Given the description of an element on the screen output the (x, y) to click on. 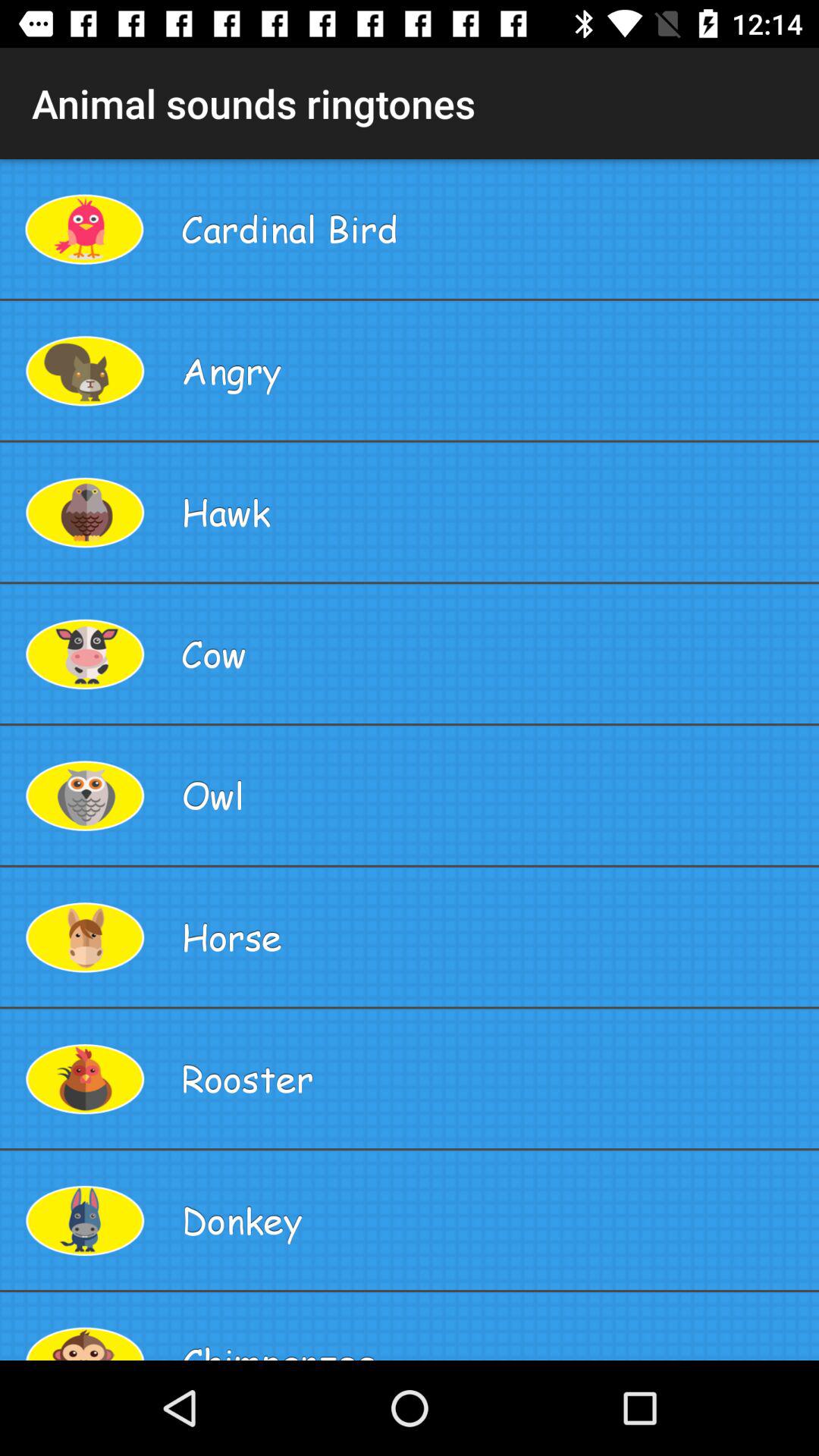
scroll until cow app (494, 653)
